Given the description of an element on the screen output the (x, y) to click on. 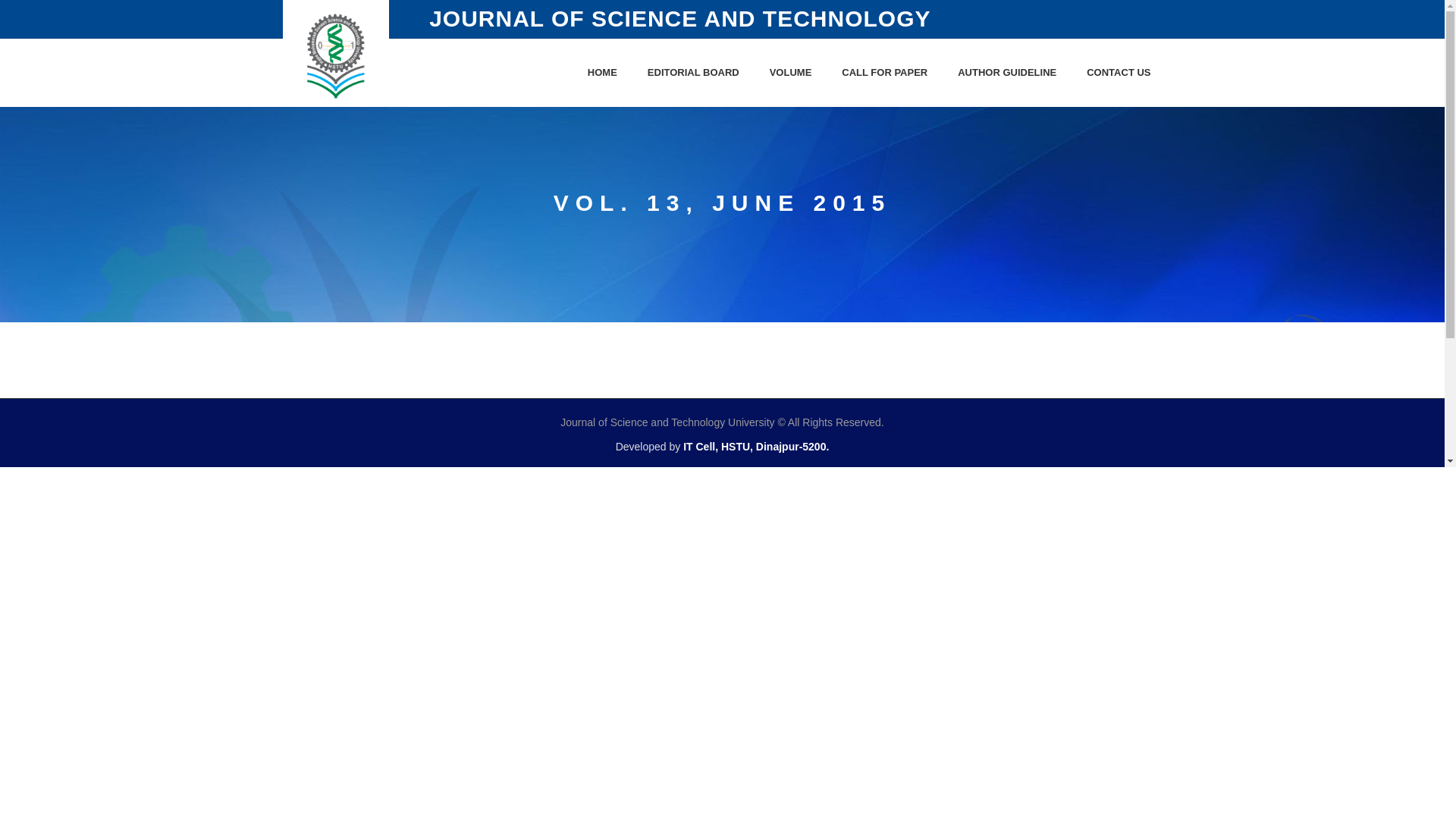
HOME Element type: text (602, 72)
EDITORIAL BOARD Element type: text (693, 72)
AUTHOR GUIDELINE Element type: text (1006, 72)
VOLUME Element type: text (790, 72)
CALL FOR PAPER Element type: text (884, 72)
CONTACT US Element type: text (1118, 72)
IT Cell, HSTU, Dinajpur-5200. Element type: text (755, 446)
